Given the description of an element on the screen output the (x, y) to click on. 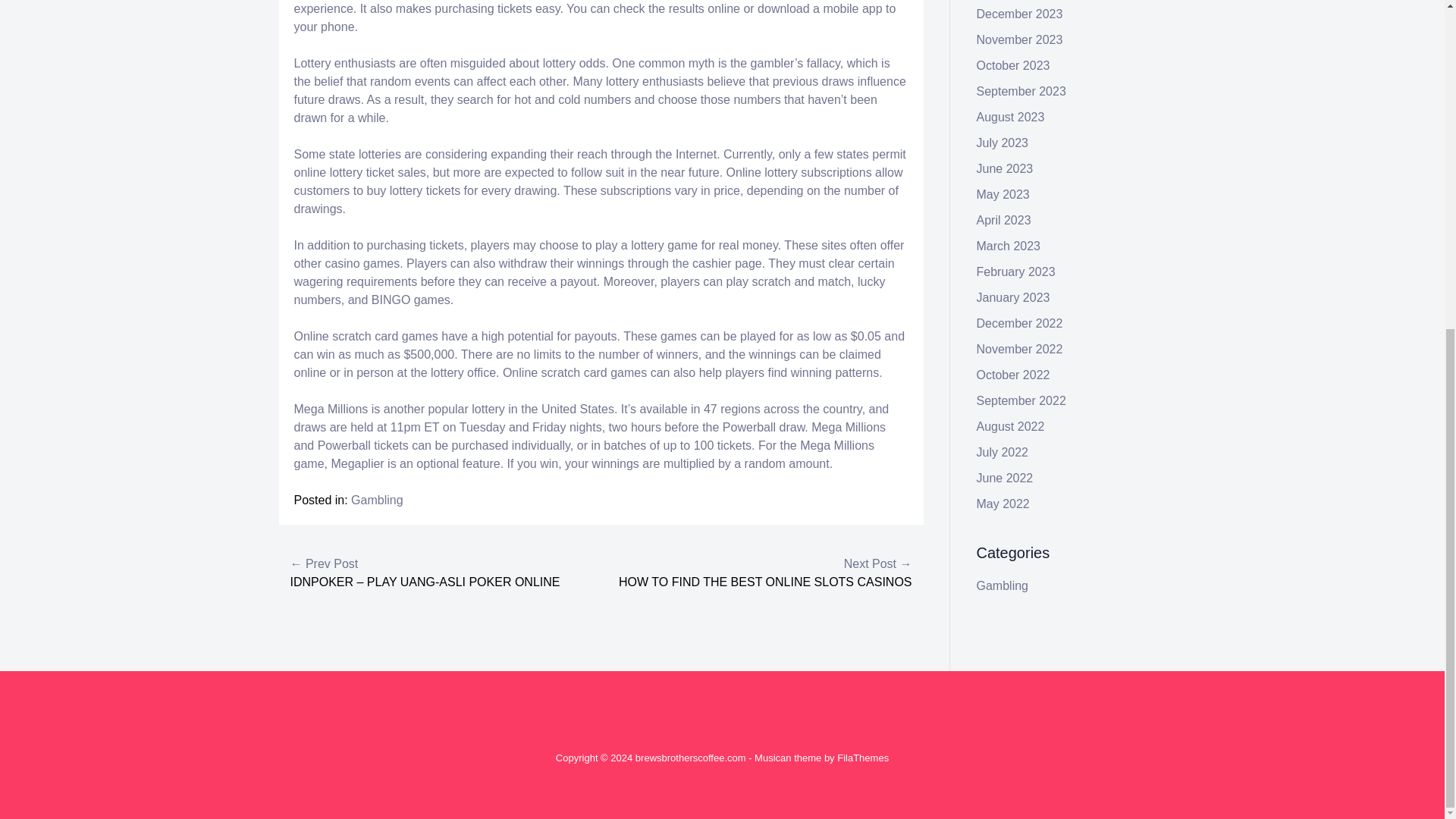
January 2023 (1012, 297)
July 2023 (1002, 142)
June 2022 (1004, 477)
December 2022 (1019, 323)
July 2022 (1002, 451)
Gambling (376, 499)
brewsbrotherscoffee.com (689, 757)
September 2022 (1020, 400)
August 2022 (1010, 426)
October 2022 (1012, 374)
March 2023 (1008, 245)
April 2023 (1003, 219)
November 2022 (1019, 349)
September 2023 (1020, 91)
May 2023 (1002, 194)
